Given the description of an element on the screen output the (x, y) to click on. 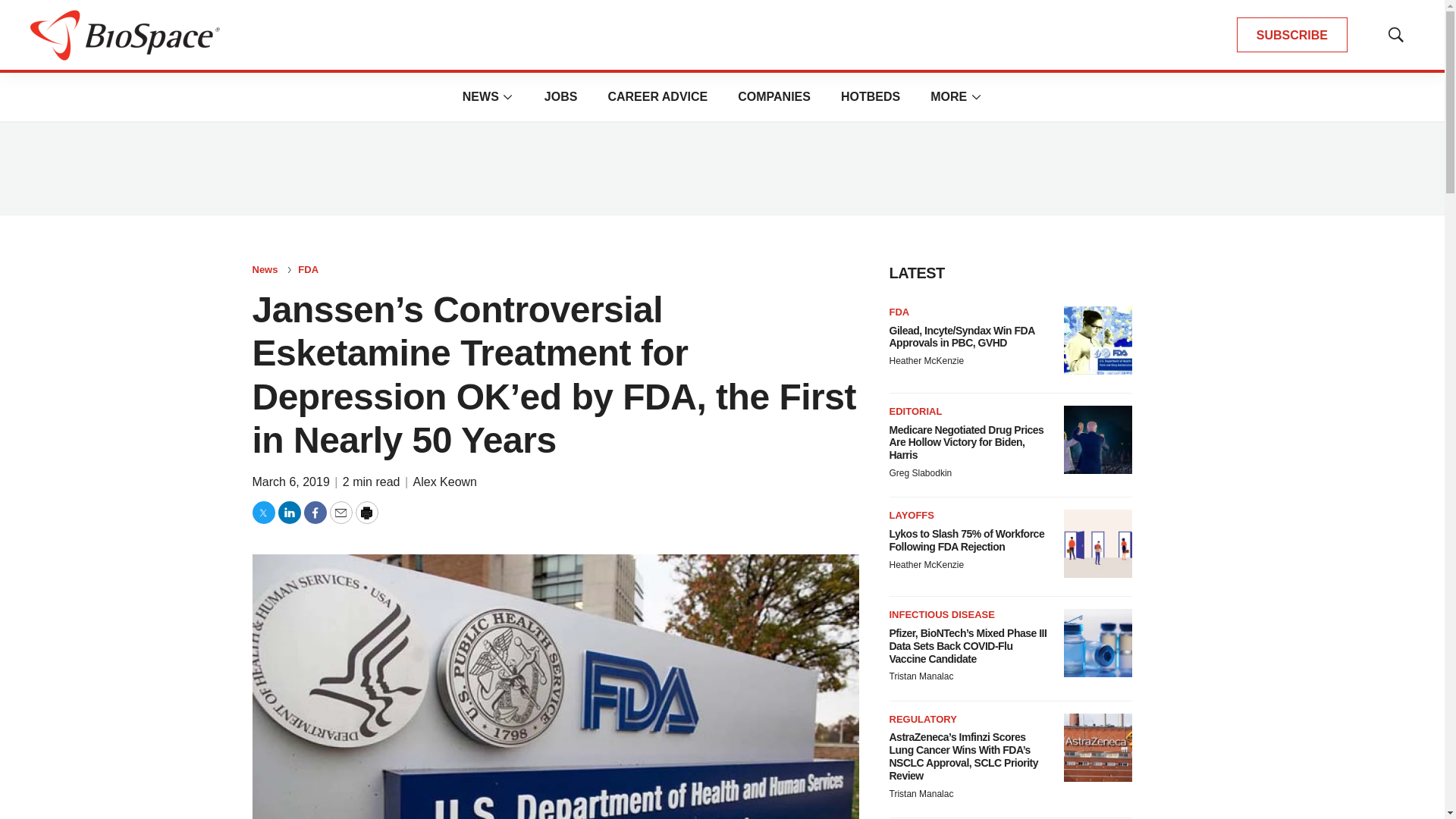
Show Search (1395, 34)
SUBSCRIBE (1292, 34)
NEWS (481, 96)
3rd party ad content (721, 168)
